Given the description of an element on the screen output the (x, y) to click on. 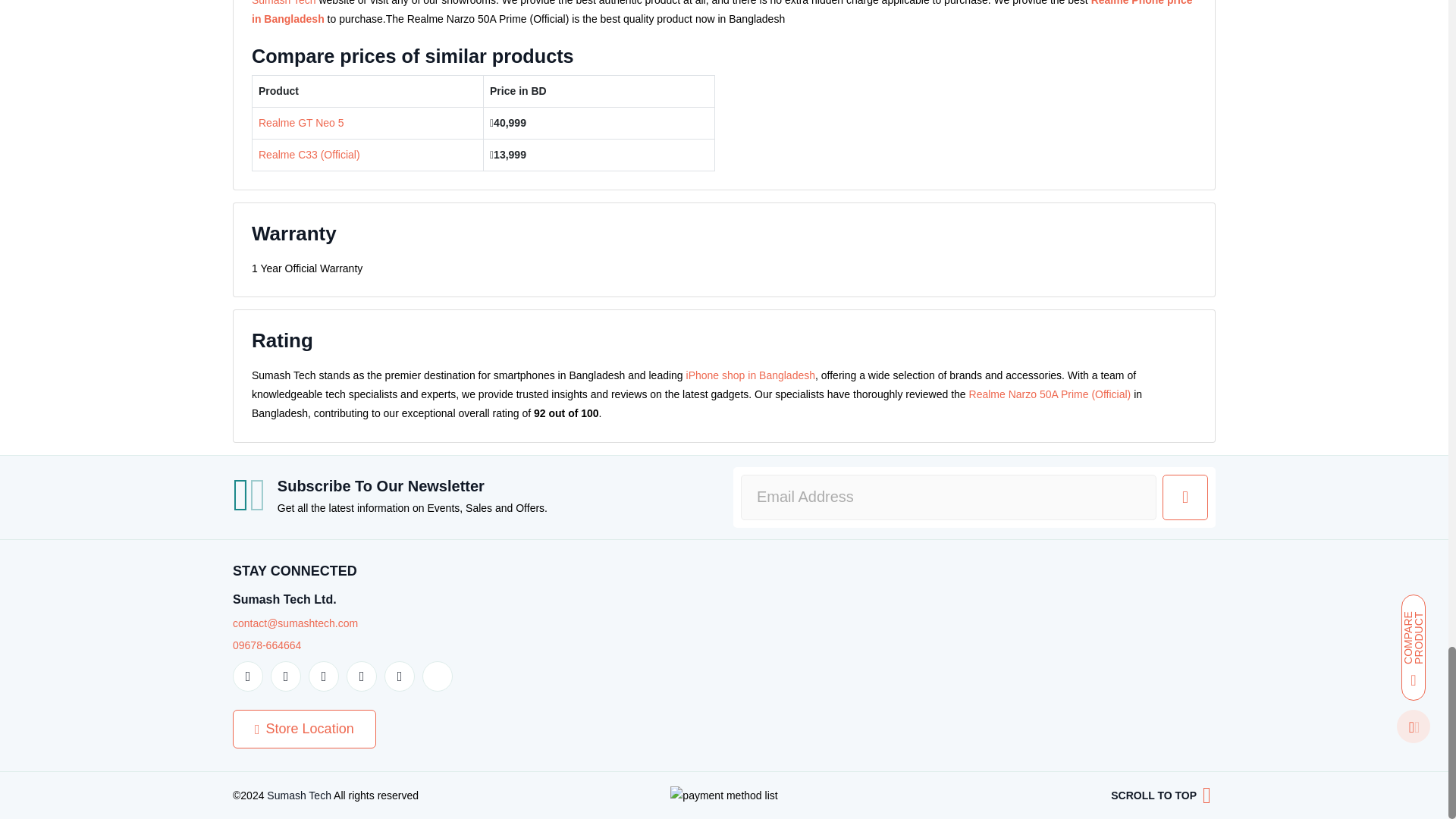
SCROLL TO TOP (1160, 794)
